Given the description of an element on the screen output the (x, y) to click on. 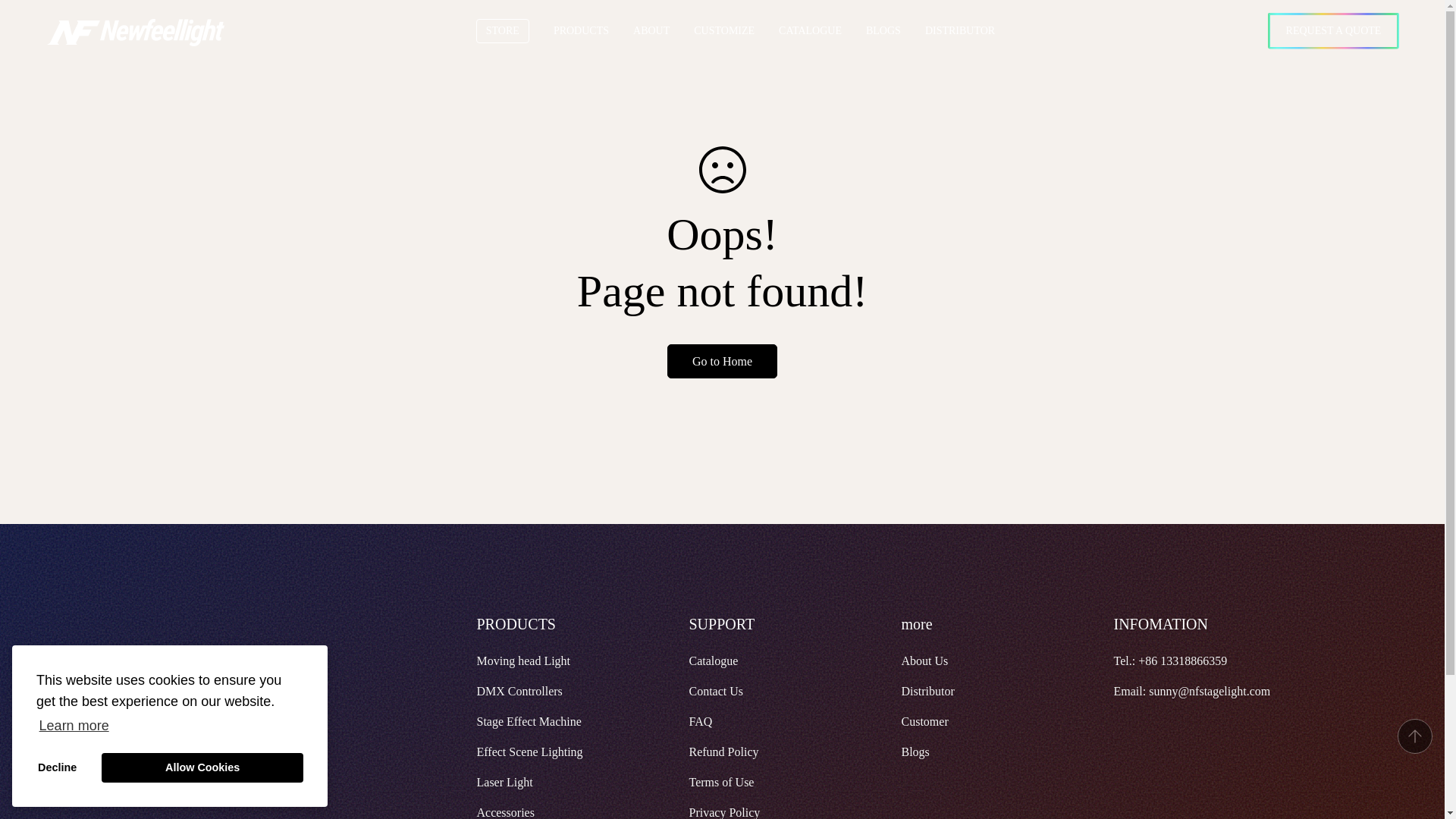
CUSTOMIZE (736, 30)
PRODUCTS (580, 30)
CATALOGUE (822, 30)
Allow Cookies (201, 767)
Learn more (74, 724)
REQUEST A QUOTE (1333, 30)
BLOGS (895, 30)
STORE (514, 30)
ABOUT (663, 30)
Decline (57, 767)
DISTRIBUTOR (971, 30)
